Given the description of an element on the screen output the (x, y) to click on. 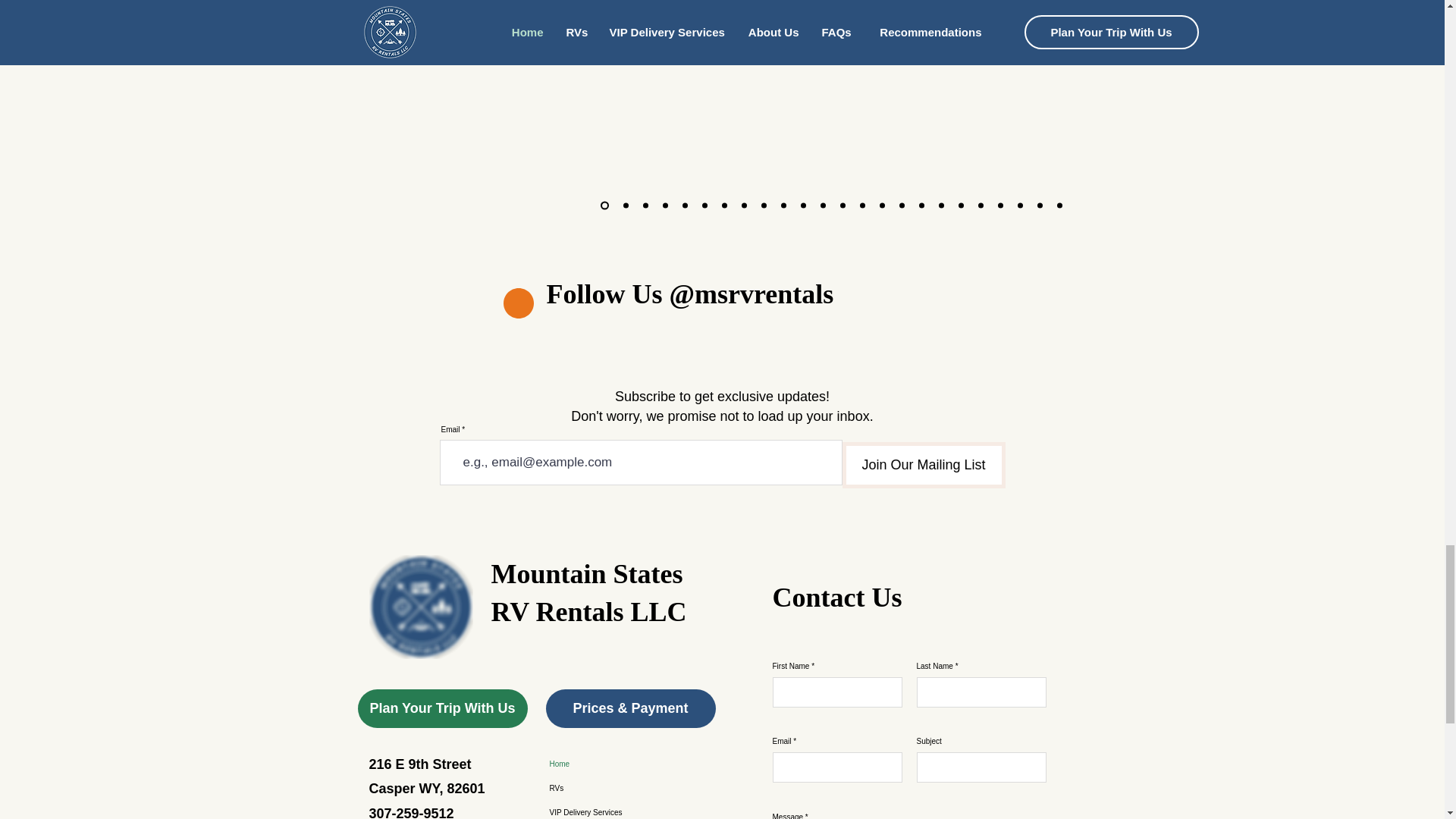
MSRV Crossed Arrows Blue-2.png (419, 607)
